Given the description of an element on the screen output the (x, y) to click on. 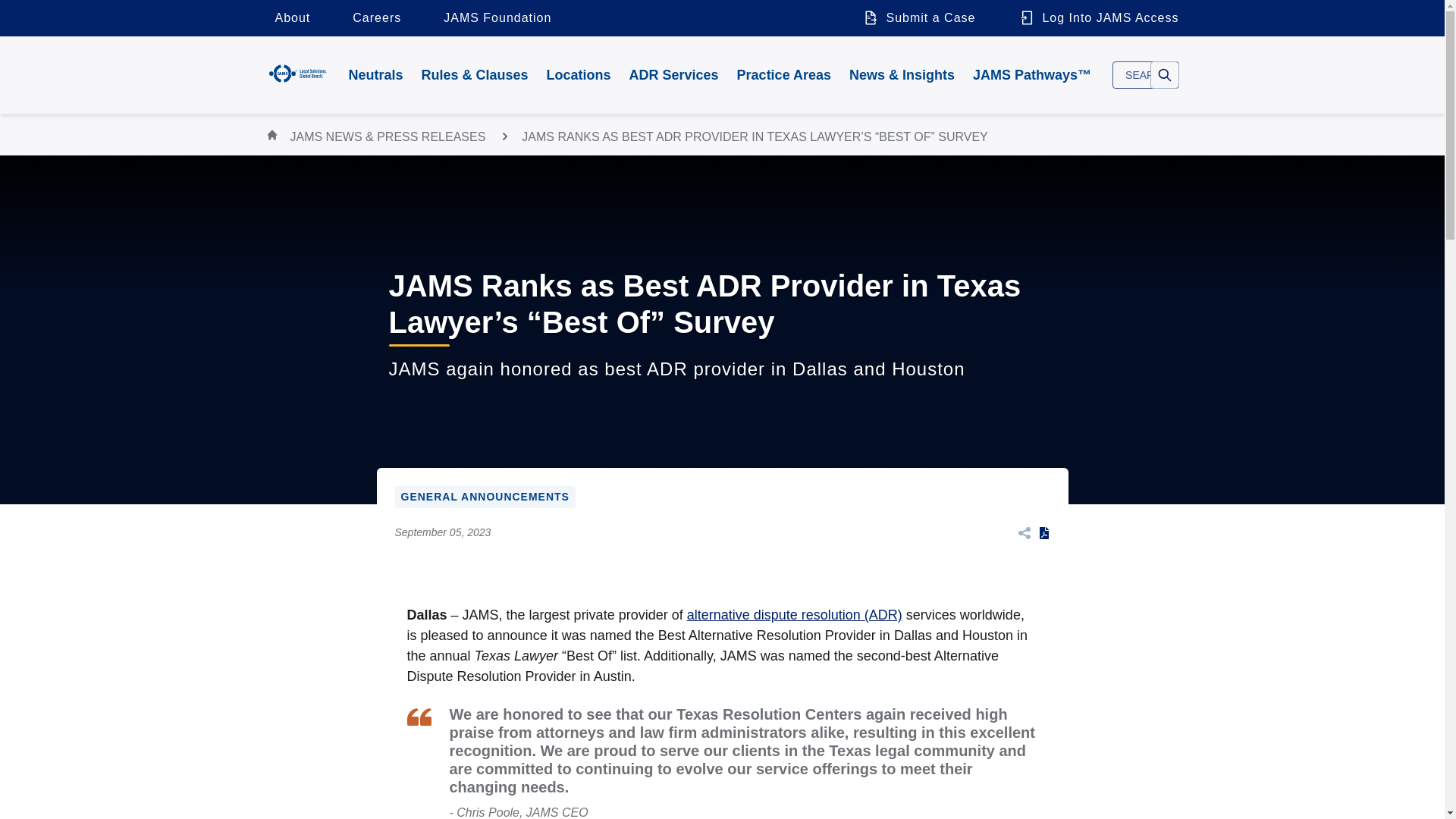
JAMS Foundation (496, 18)
JAMS Home (296, 73)
About (291, 18)
Careers (376, 18)
Submit a Case (917, 18)
Neutrals (375, 74)
Log Into JAMS Access (1093, 18)
